Given the description of an element on the screen output the (x, y) to click on. 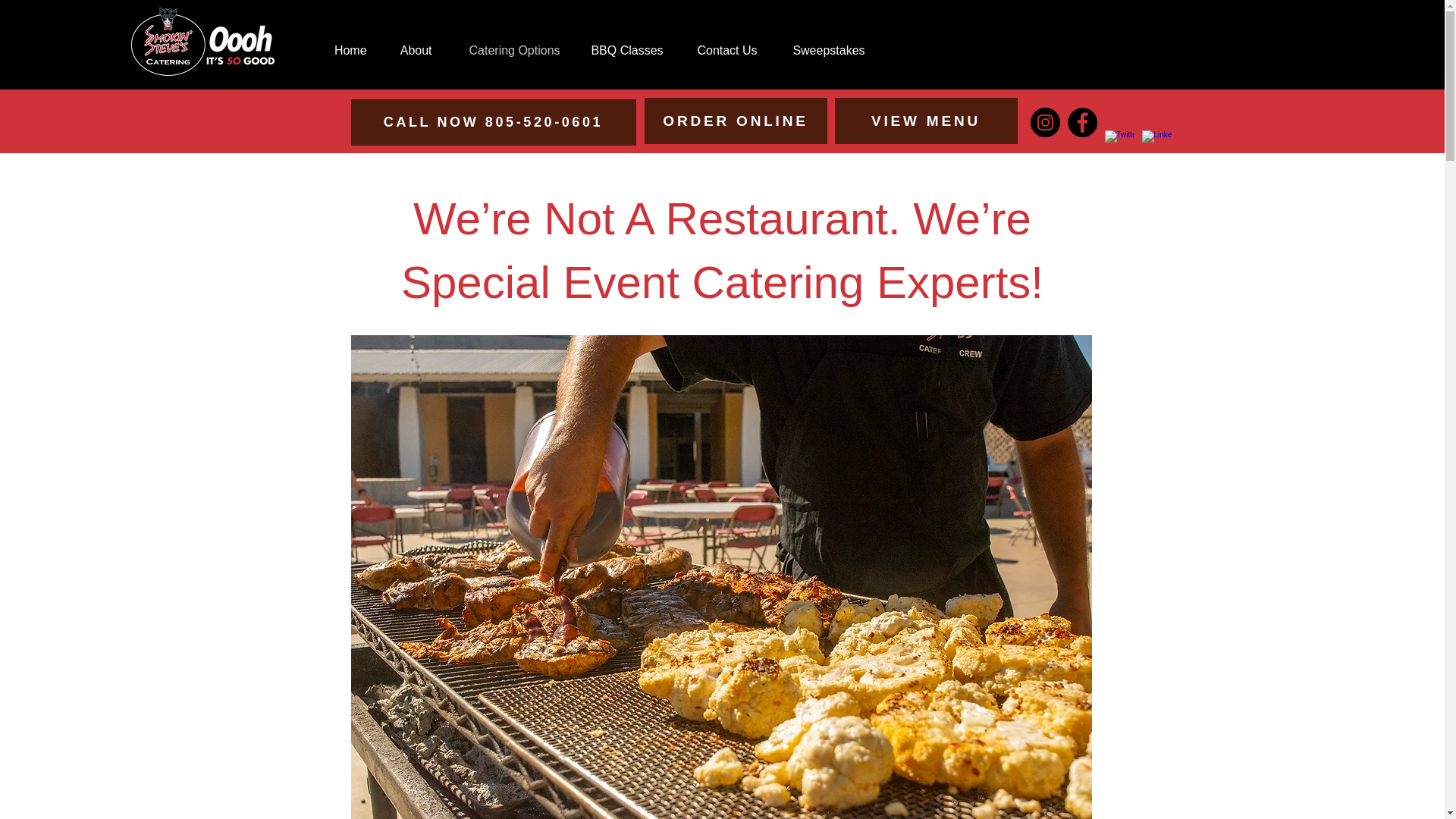
Catering Options (508, 50)
Contact Us (721, 50)
BBQ Classes (623, 50)
VIEW MENU (925, 120)
Home (345, 50)
ORDER ONLINE (736, 120)
CALL NOW 805-520-0601 (492, 122)
Sweepstakes (822, 50)
About (411, 50)
